Given the description of an element on the screen output the (x, y) to click on. 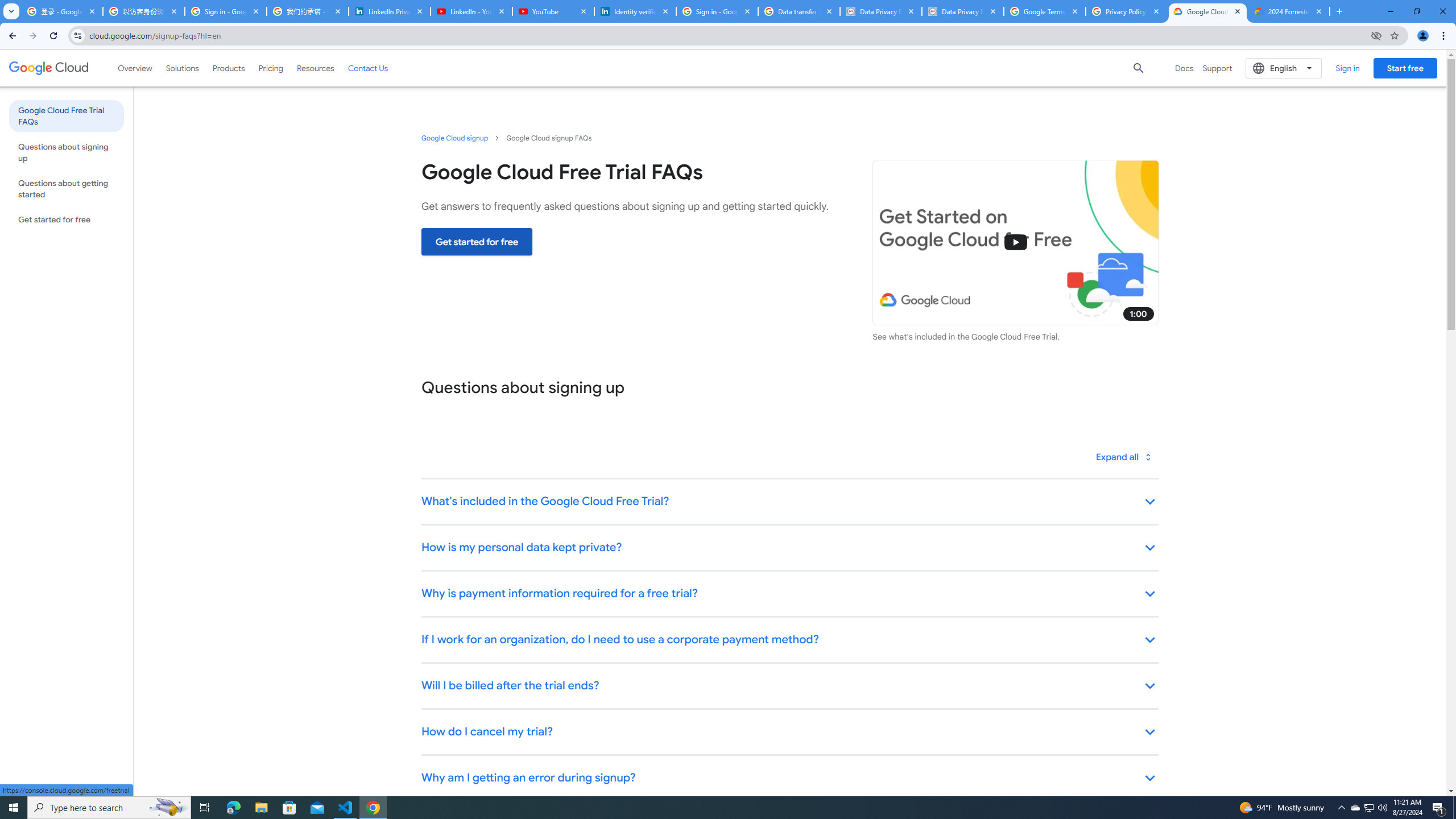
Google Cloud (48, 67)
Why am I getting an error during signup? keyboard_arrow_down (789, 778)
Google Cloud Free Trial FAQs | Google Cloud (1207, 11)
Products (228, 67)
Sign in - Google Accounts (716, 11)
Questions about signing up (65, 152)
